Given the description of an element on the screen output the (x, y) to click on. 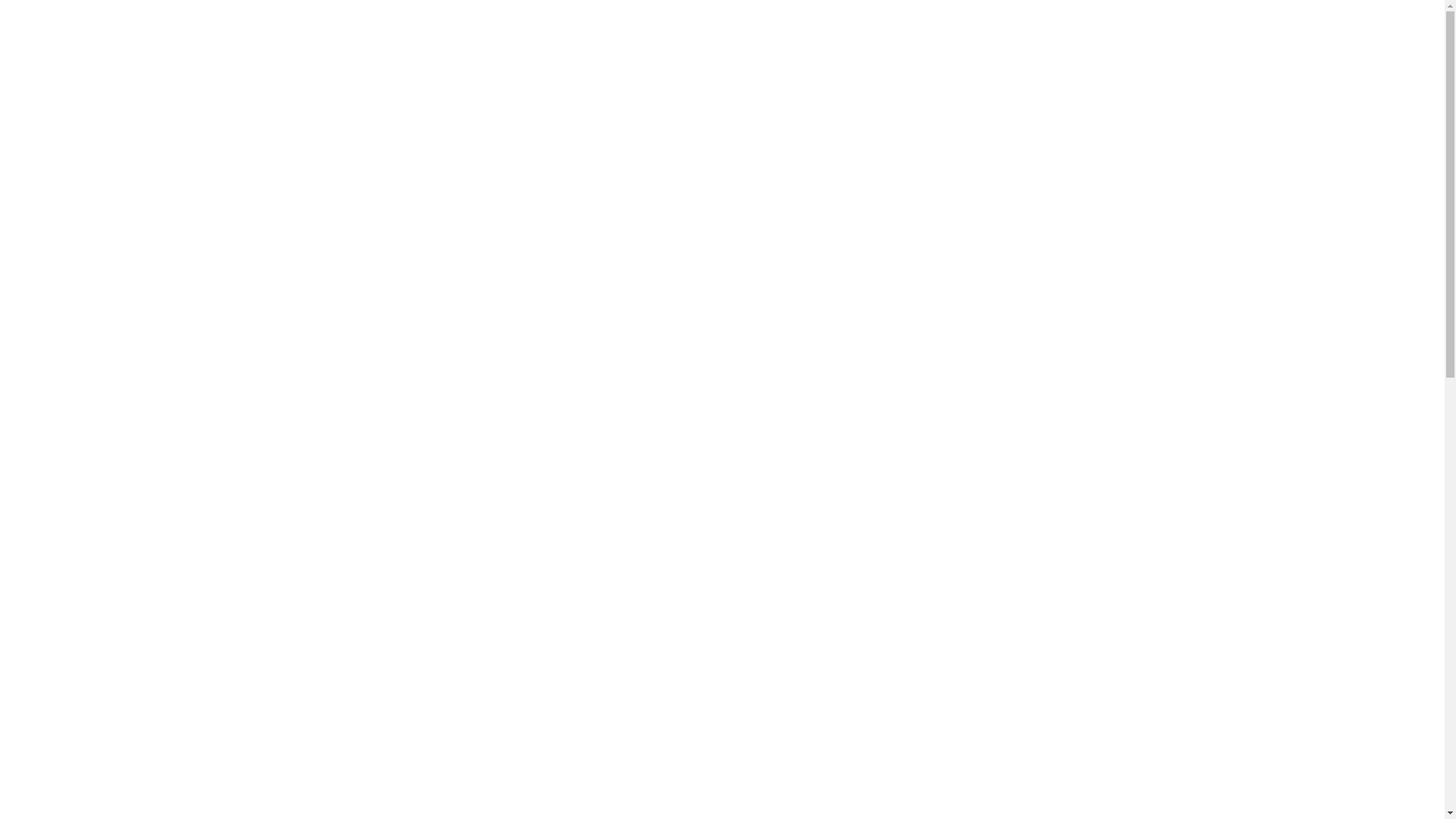
QUI SUIS-JE Element type: text (826, 148)
REALISATIONS Element type: text (727, 148)
AVANT-PROJET Element type: text (620, 148)
ACCUEIL Element type: text (538, 148)
CONTACT Element type: text (903, 148)
